Given the description of an element on the screen output the (x, y) to click on. 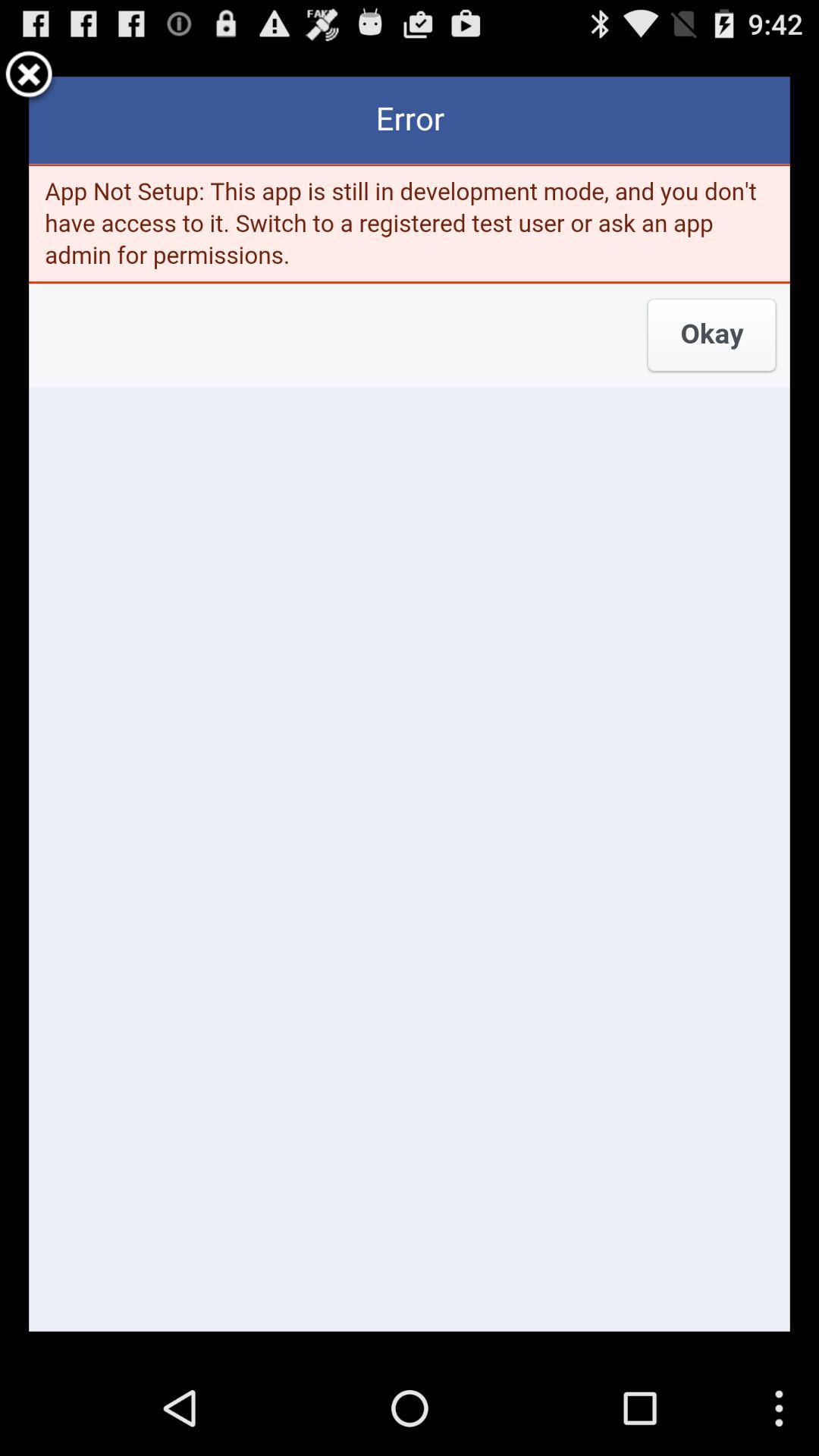
error page (409, 703)
